Given the description of an element on the screen output the (x, y) to click on. 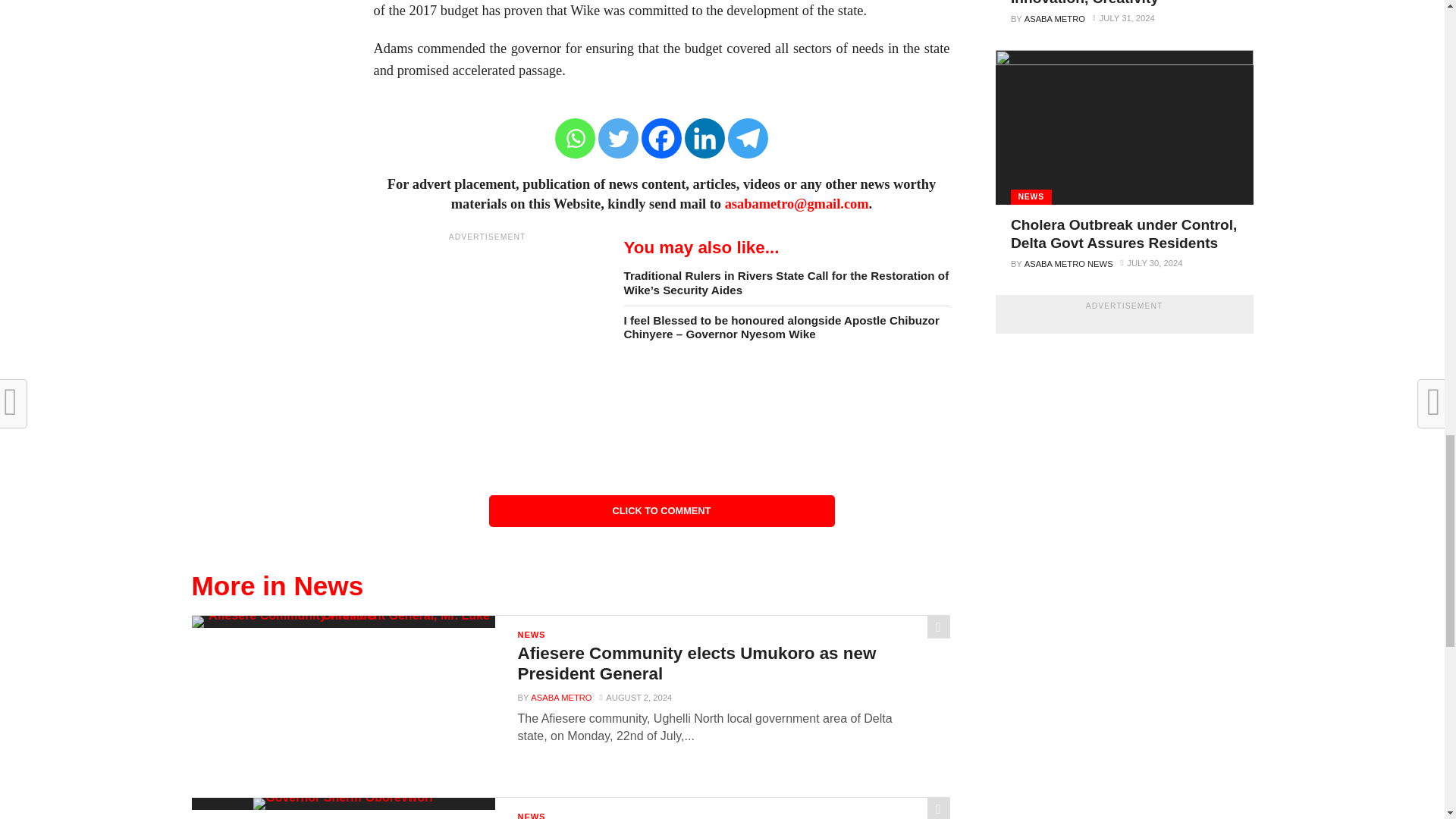
Telegram (748, 137)
Facebook (661, 137)
Whatsapp (574, 137)
Linkedin (704, 137)
Twitter (618, 137)
